Given the description of an element on the screen output the (x, y) to click on. 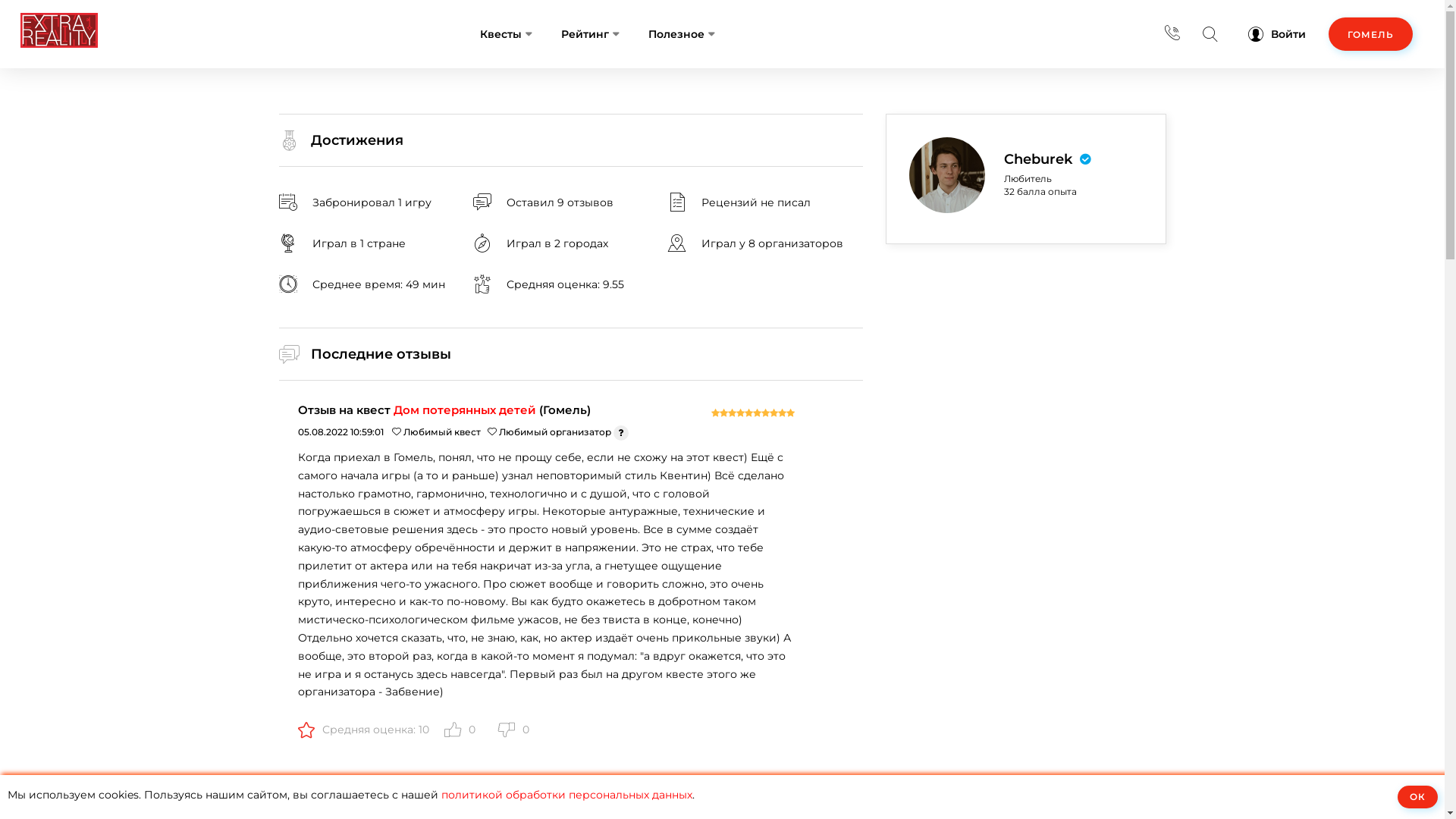
0 Element type: text (459, 729)
0 Element type: text (512, 729)
